Given the description of an element on the screen output the (x, y) to click on. 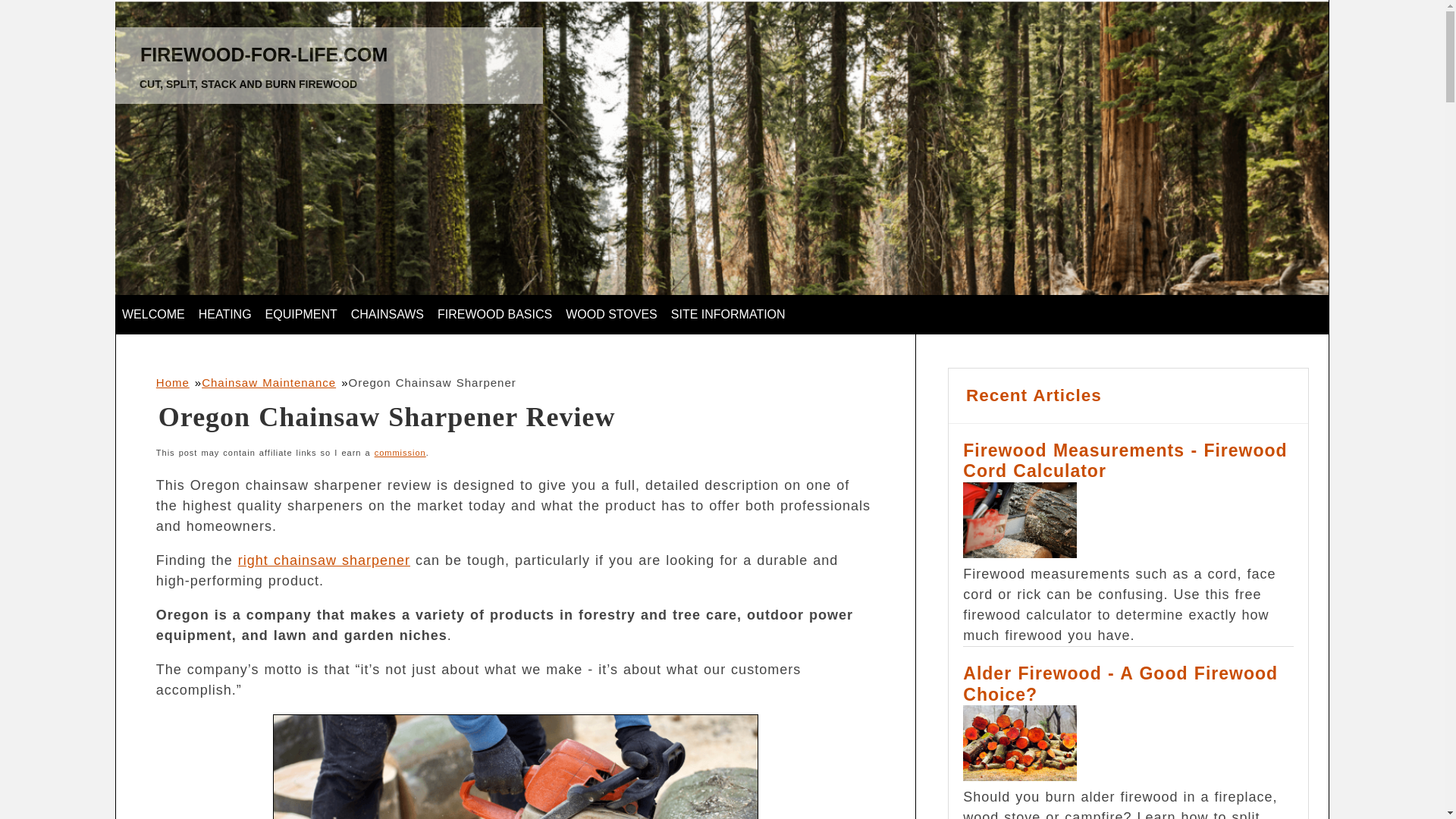
commission (400, 452)
Chainsaw Maintenance (269, 382)
FIREWOOD-FOR-LIFE.COM (263, 54)
right chainsaw sharpener (324, 560)
Home (172, 382)
